Given the description of an element on the screen output the (x, y) to click on. 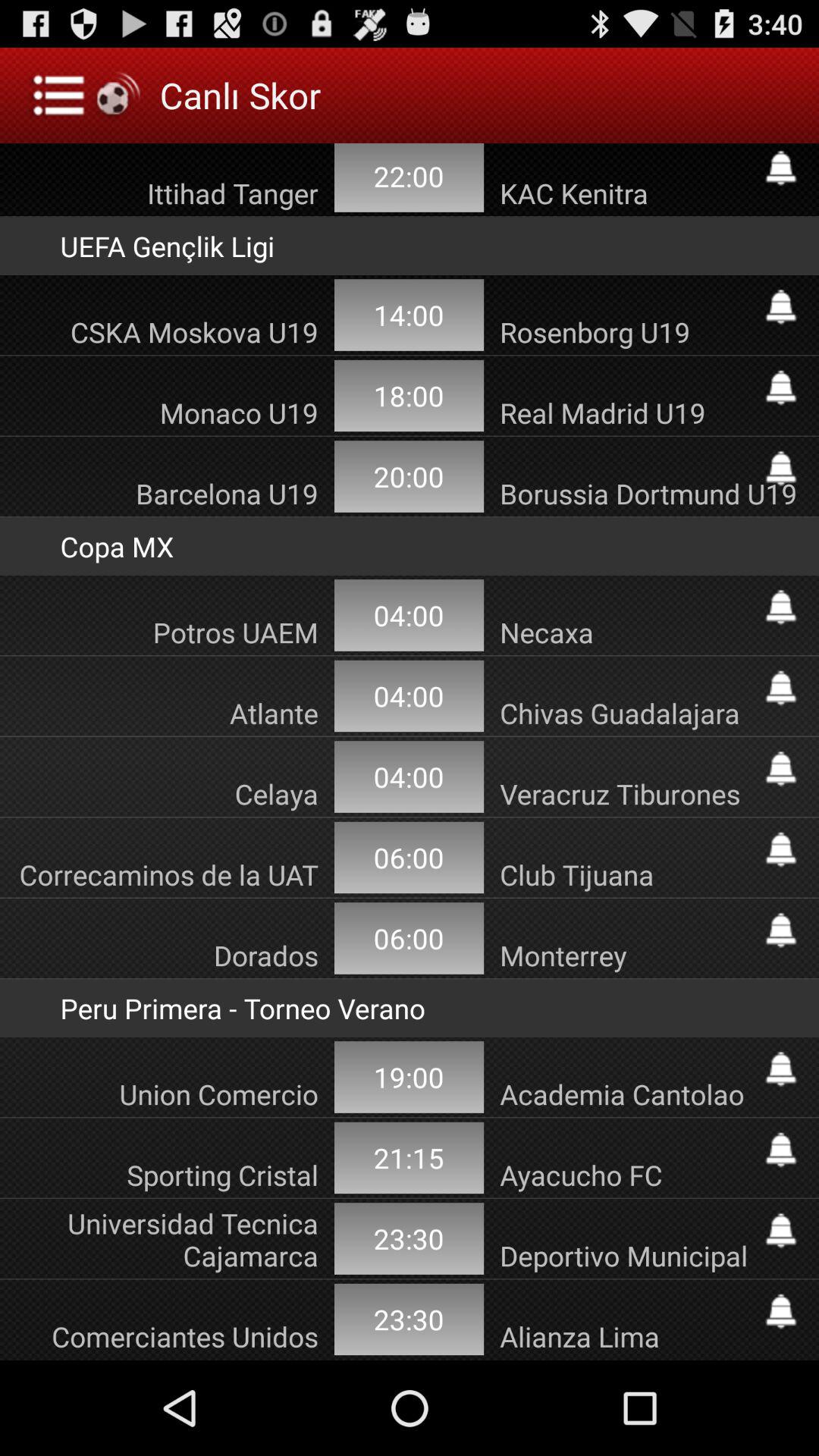
toggle alert option (780, 849)
